Given the description of an element on the screen output the (x, y) to click on. 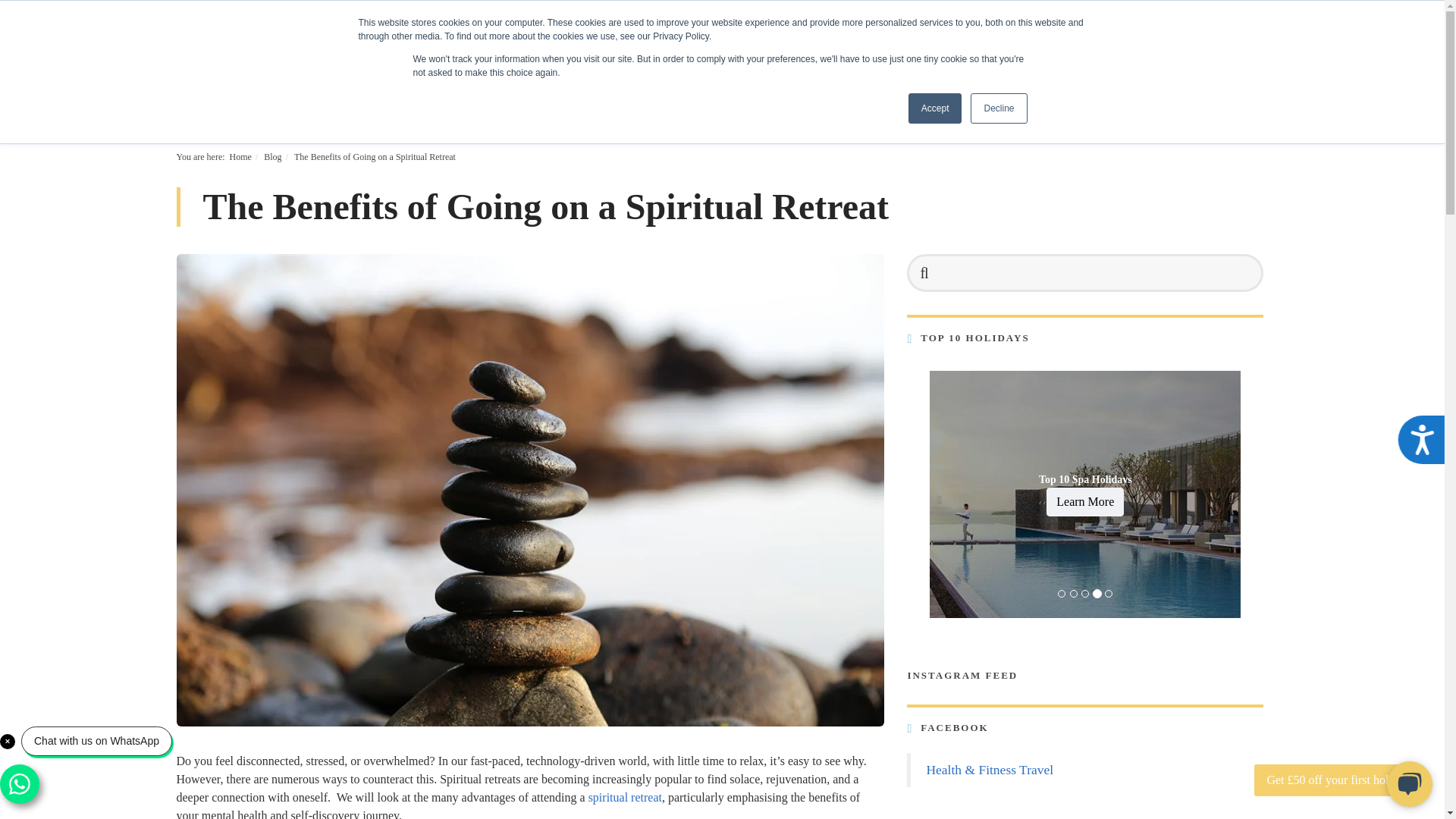
Decline (998, 108)
Enquire (1219, 79)
Accept (935, 108)
Favourites (301, 39)
